Given the description of an element on the screen output the (x, y) to click on. 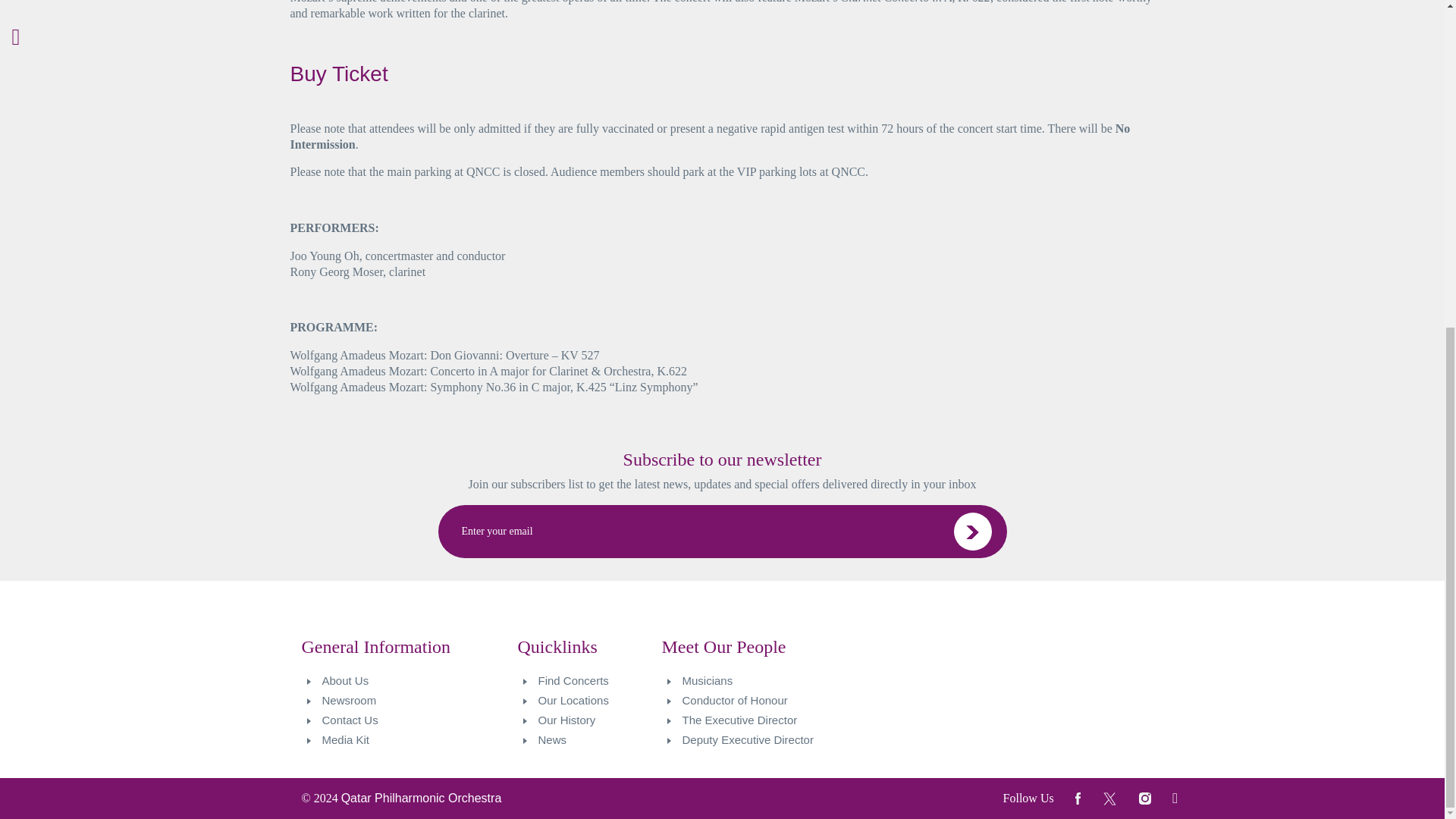
The Executive Director (769, 720)
Conductor of Honour (769, 700)
Our Locations (588, 700)
Contact Us (408, 720)
About Us (408, 681)
Find Concerts (588, 681)
Buy Ticket (338, 73)
Deputy Executive Director (769, 740)
News (588, 740)
Newsroom (408, 700)
Qatar Philharmonic Orchestra (421, 797)
Musicians (769, 681)
Media Kit (408, 740)
Our History (588, 720)
